Given the description of an element on the screen output the (x, y) to click on. 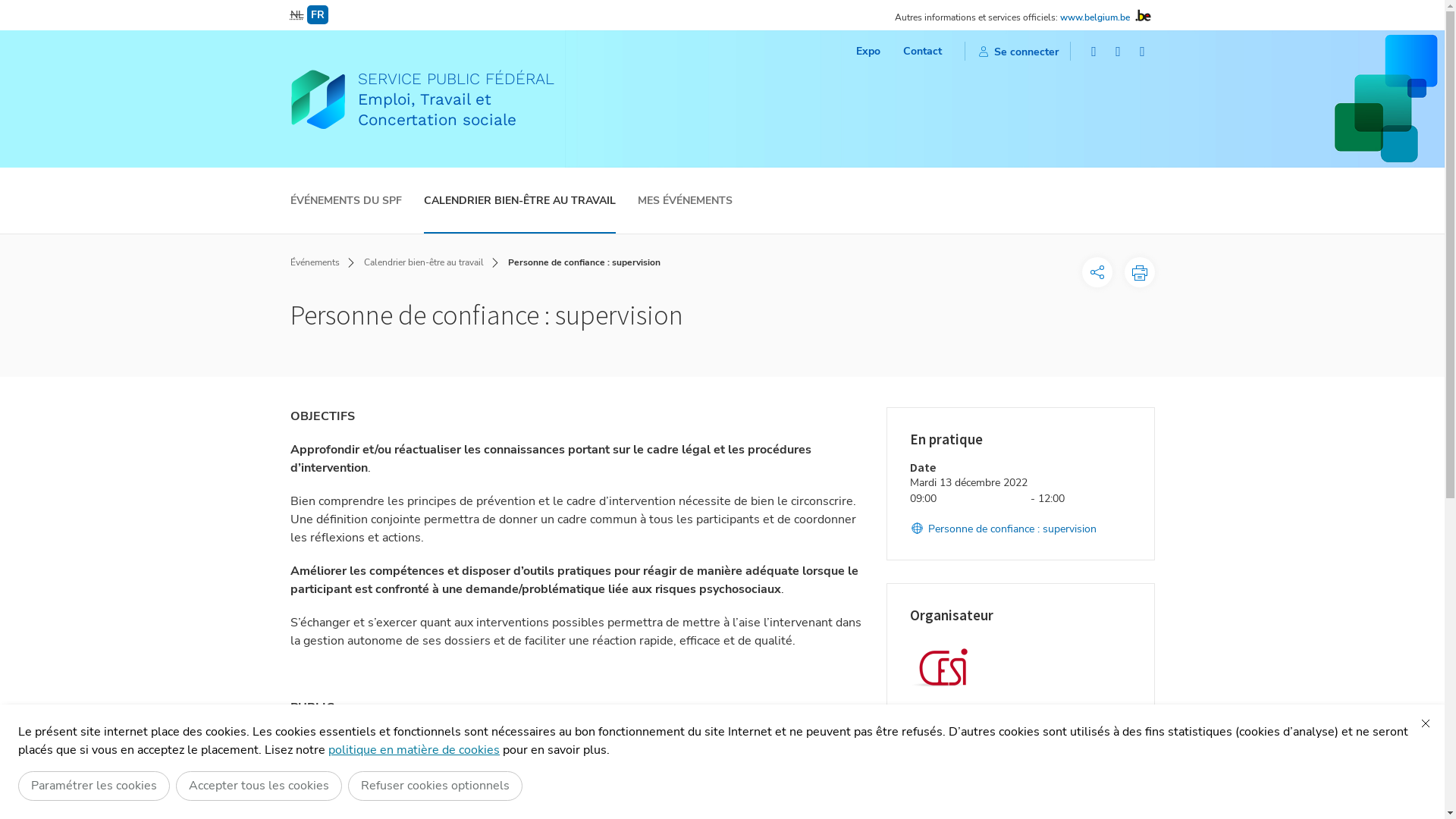
FR Element type: text (316, 14)
Facebook Element type: text (1094, 51)
Fermer Element type: hover (1425, 723)
LinkedIn Element type: text (1142, 51)
Site web de CESI Element type: text (960, 760)
Refuser cookies optionnels Element type: text (435, 785)
Contact Element type: text (921, 50)
Expo Element type: text (867, 50)
www.belgium.be Element type: text (1094, 17)
Se connecter Element type: text (1017, 51)
Accepter tous les cookies Element type: text (258, 785)
Twitter Element type: text (1118, 51)
Options de partage Element type: text (1096, 272)
Personne de confiance : supervision Element type: text (1003, 528)
Imprimer cette page Element type: text (1138, 272)
ALLER AU CONTENU PRINCIPAL Element type: text (721, 7)
